Given the description of an element on the screen output the (x, y) to click on. 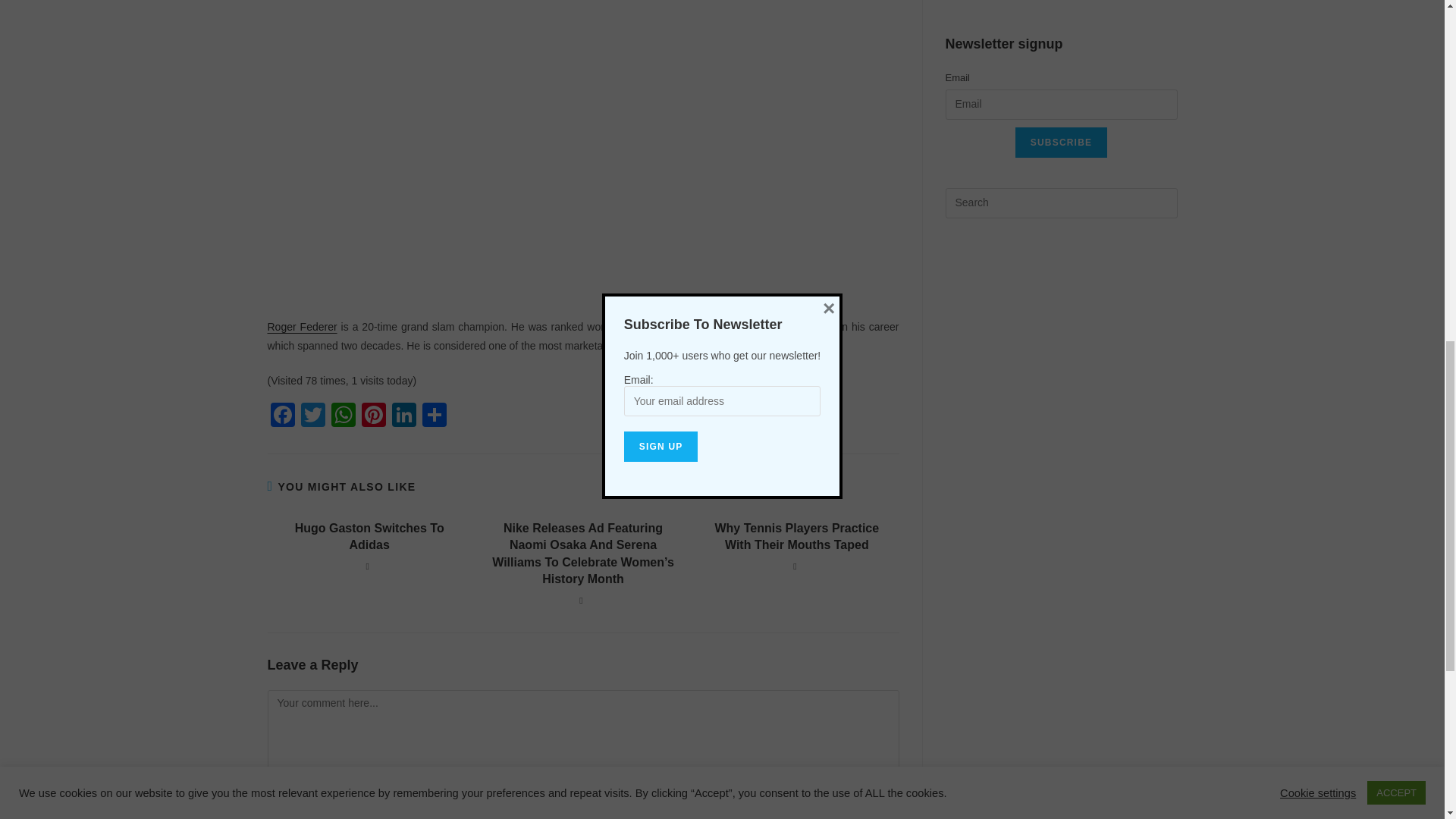
Hugo Gaston Switches To Adidas (368, 537)
Facebook (281, 416)
Facebook (281, 416)
Subscribe (1060, 142)
WhatsApp (342, 416)
WhatsApp (342, 416)
Subscribe (1060, 142)
Pinterest (373, 416)
Twitter (312, 416)
Pinterest (373, 416)
LinkedIn (403, 416)
Share (433, 416)
Roger Federer (301, 326)
Twitter (312, 416)
Why Tennis Players Practice With Their Mouths Taped (796, 537)
